Given the description of an element on the screen output the (x, y) to click on. 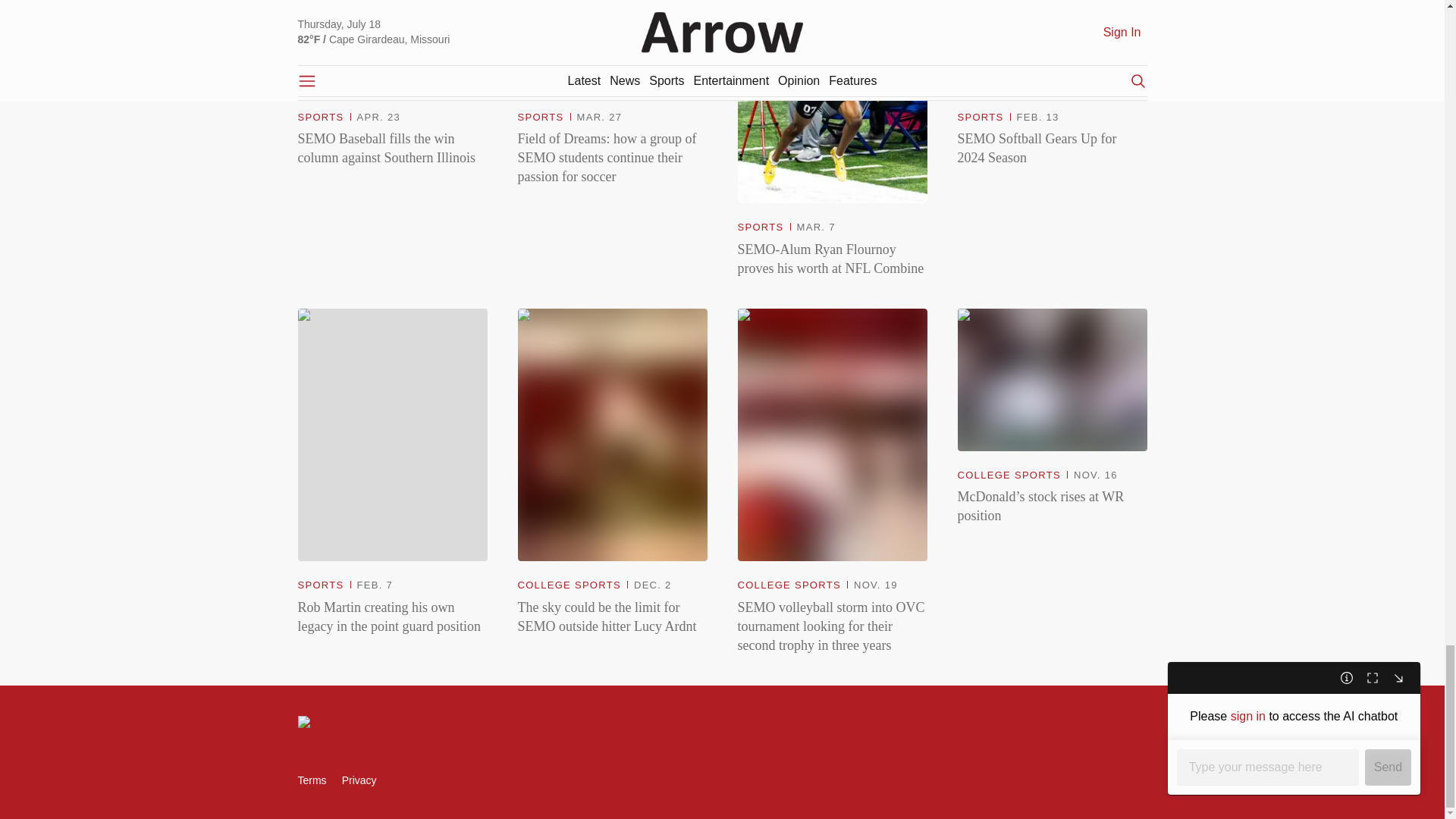
SPORTS (320, 117)
SPORTS (539, 117)
SPORTS (979, 117)
SPORTS (759, 227)
SEMO Baseball fills the win column against Southern Illinois (391, 148)
SEMO Softball Gears Up for 2024 Season (1051, 148)
SEMO-Alum Ryan Flournoy proves his worth at NFL Combine (831, 259)
